Given the description of an element on the screen output the (x, y) to click on. 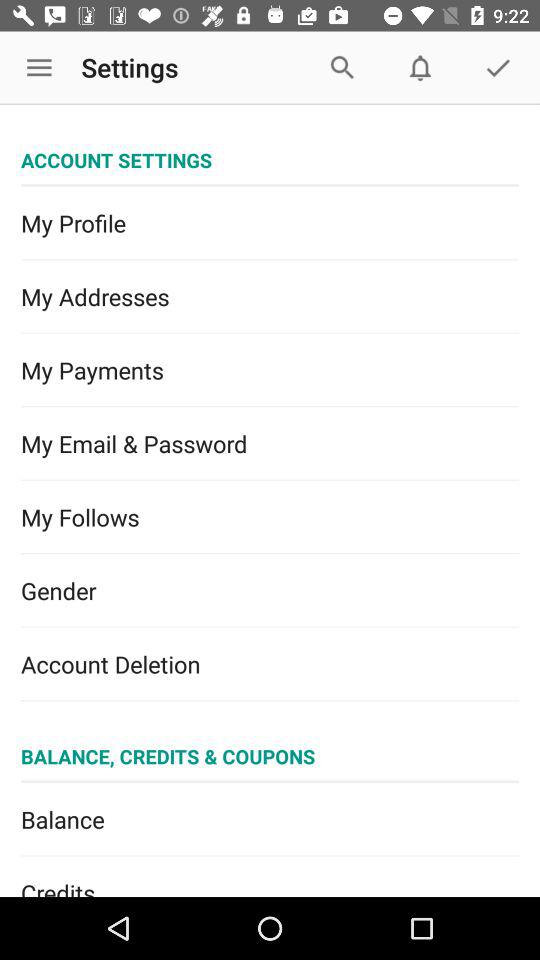
choose icon above the my addresses (270, 223)
